Given the description of an element on the screen output the (x, y) to click on. 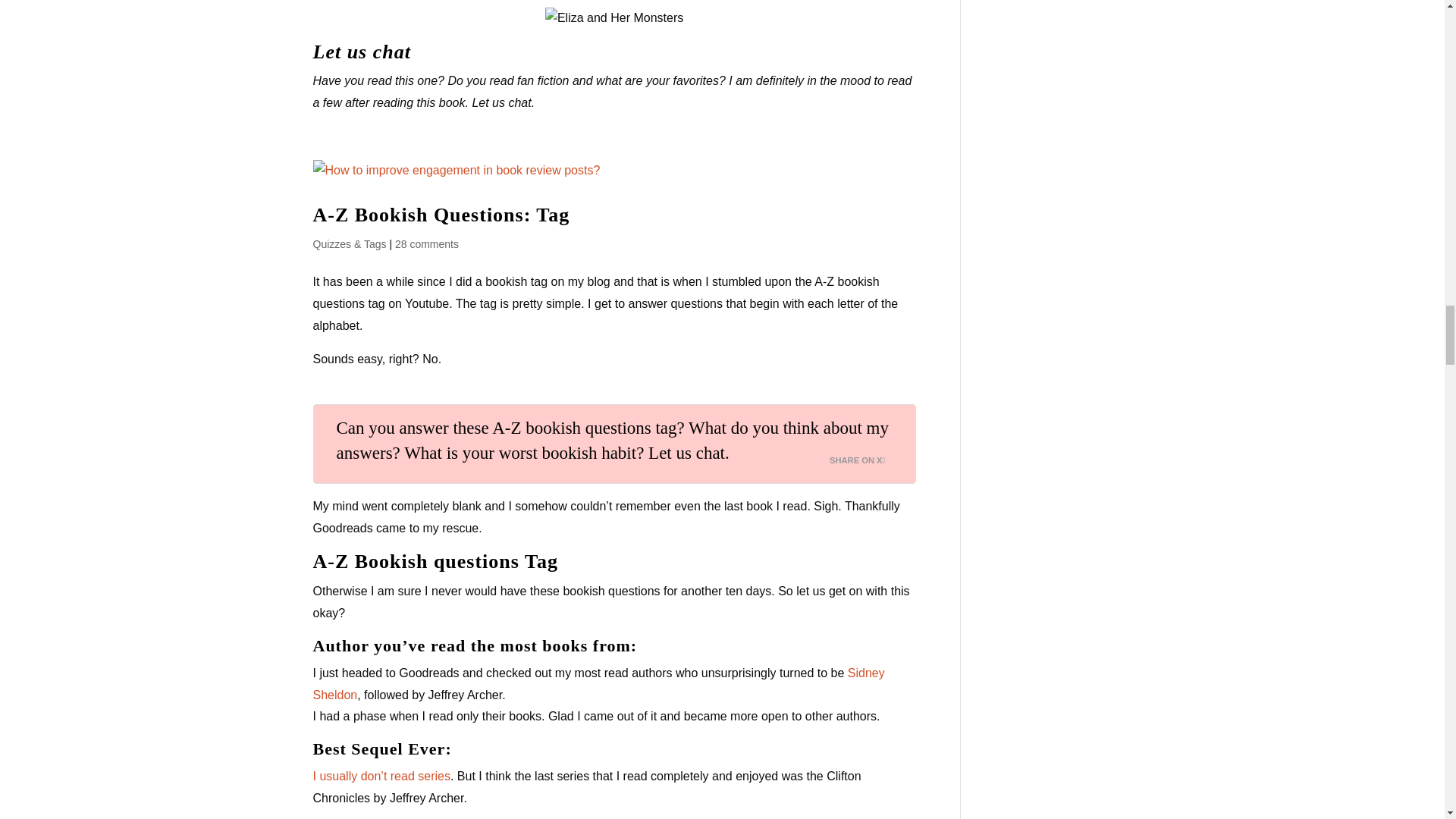
Book review: Eliza and Her Monsters 6 (613, 18)
